Given the description of an element on the screen output the (x, y) to click on. 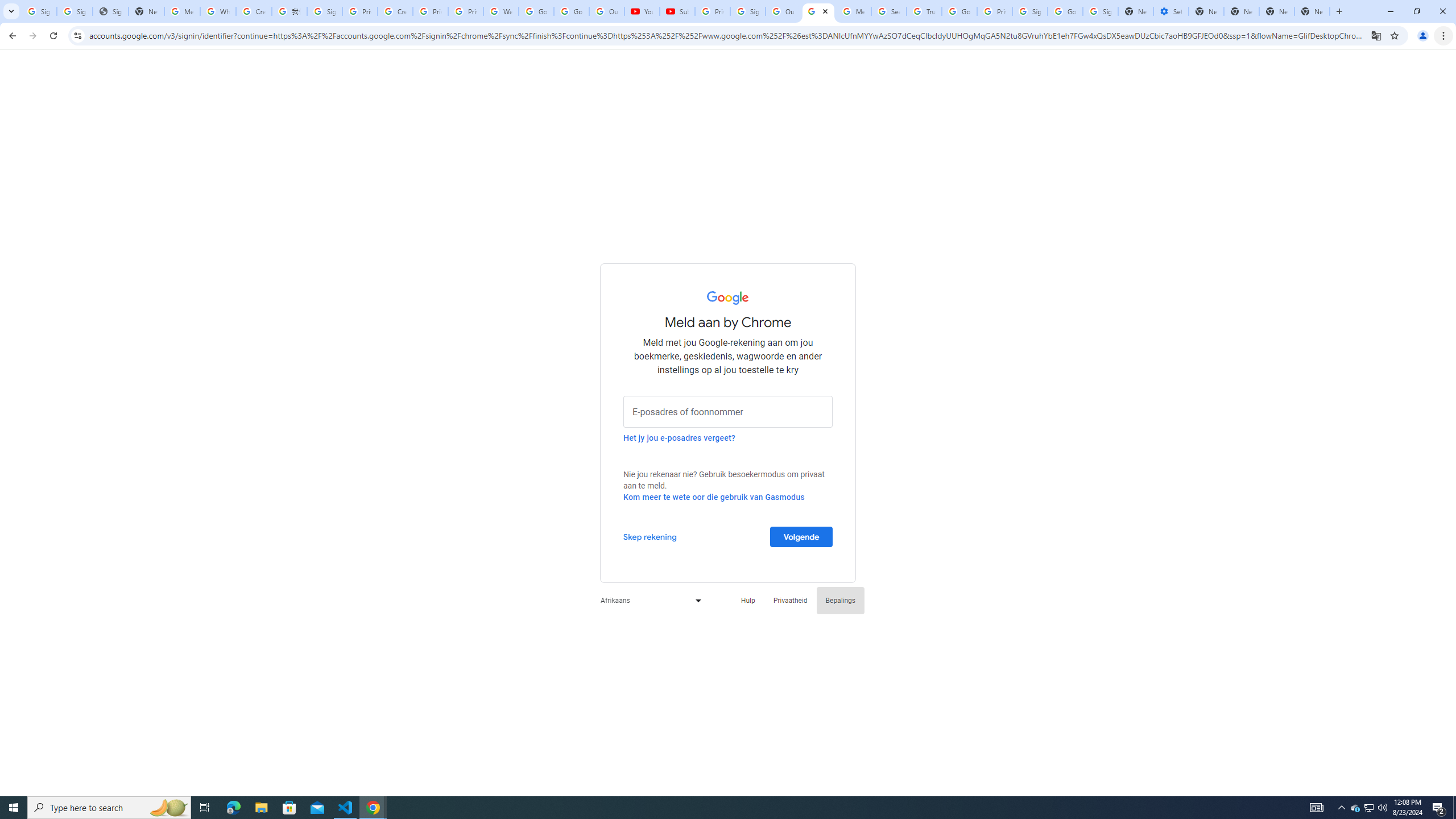
Sign in - Google Accounts (324, 11)
Skep rekening (649, 536)
Create your Google Account (394, 11)
Volgende (801, 536)
Google Cybersecurity Innovations - Google Safety Center (1064, 11)
Trusted Information and Content - Google Safety Center (923, 11)
Create your Google Account (253, 11)
Welcome to My Activity (501, 11)
